Given the description of an element on the screen output the (x, y) to click on. 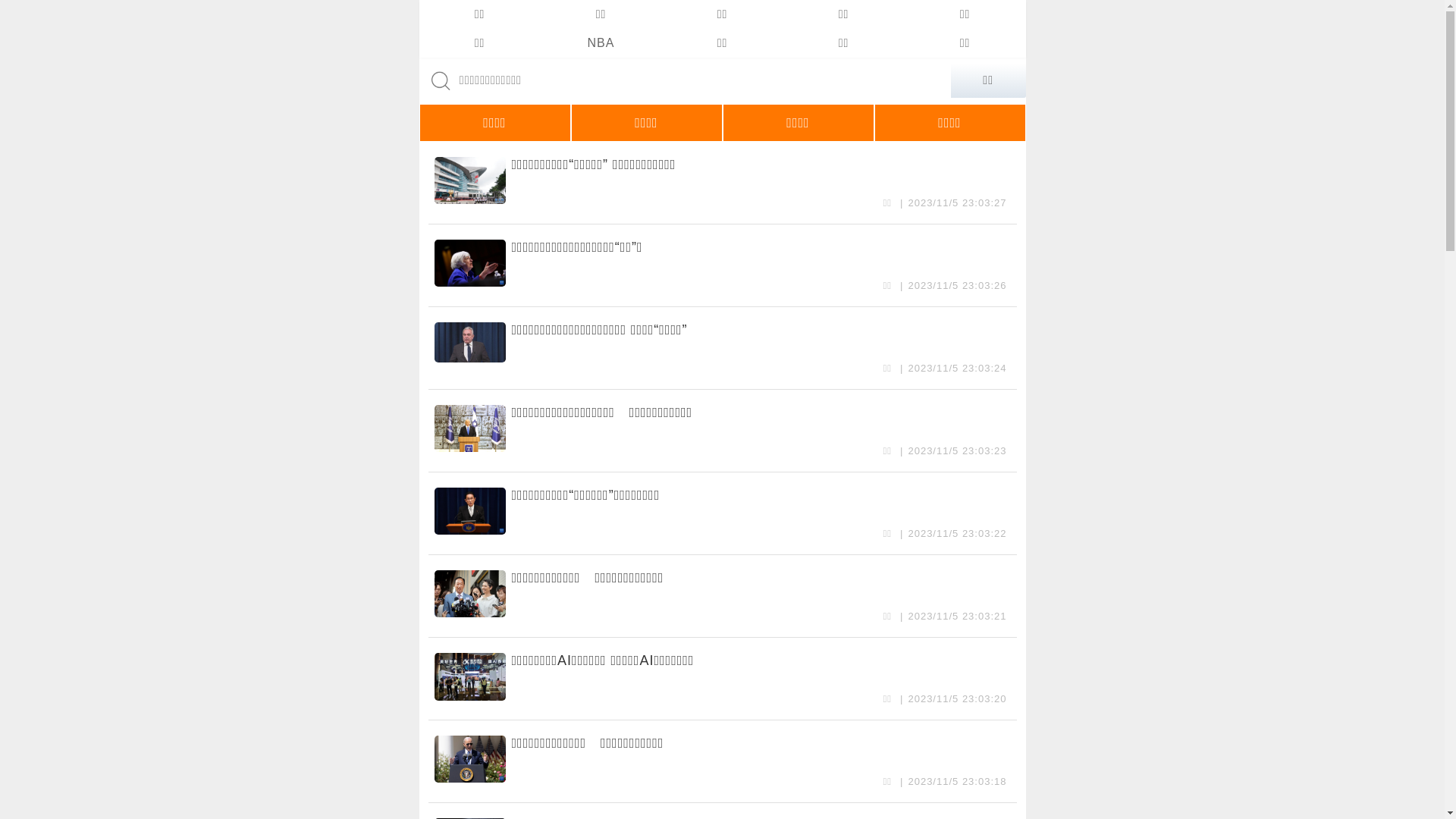
NBA Element type: text (600, 42)
